Given the description of an element on the screen output the (x, y) to click on. 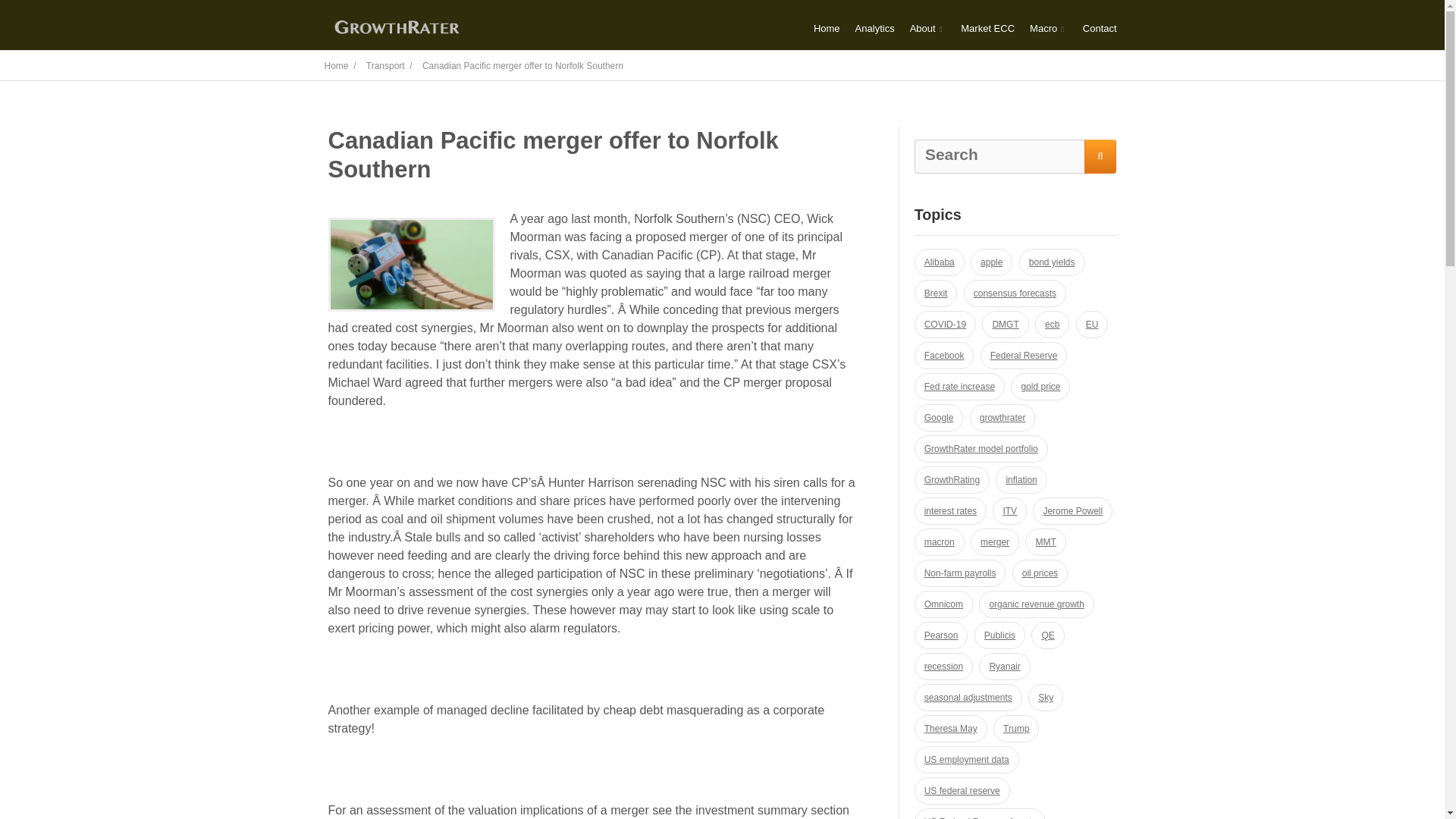
bond yields (1051, 262)
apple (991, 262)
Brexit (936, 293)
Alibaba (938, 262)
Analytics (875, 28)
Market ECC (987, 28)
Macro (1048, 28)
thomas (411, 264)
Contact (1099, 28)
Home (826, 28)
